Given the description of an element on the screen output the (x, y) to click on. 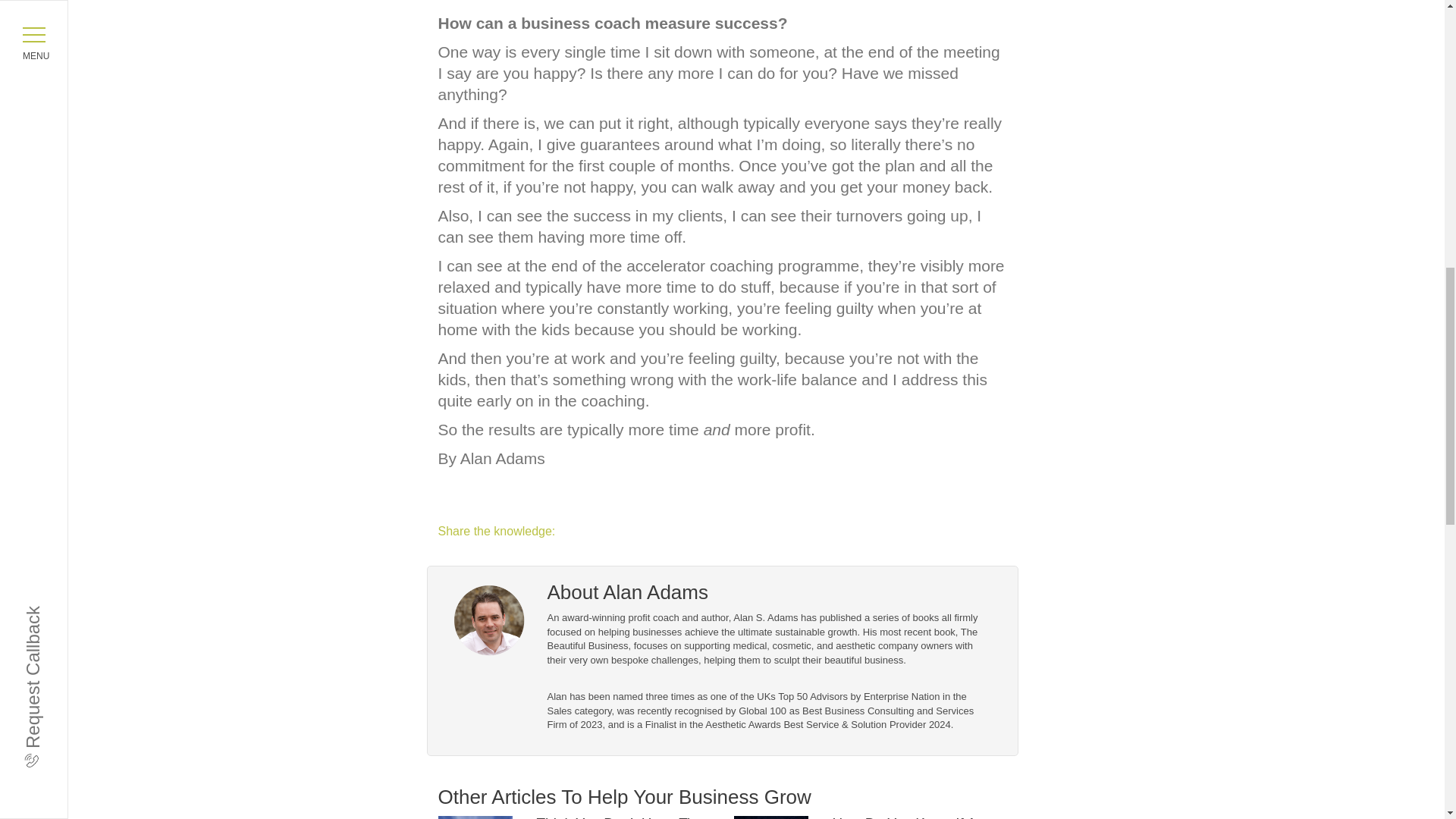
How Do You Know If A Business Coach Is A Good Fit For You? (917, 816)
How Can A Business Coach Measure Success? (722, 6)
